Given the description of an element on the screen output the (x, y) to click on. 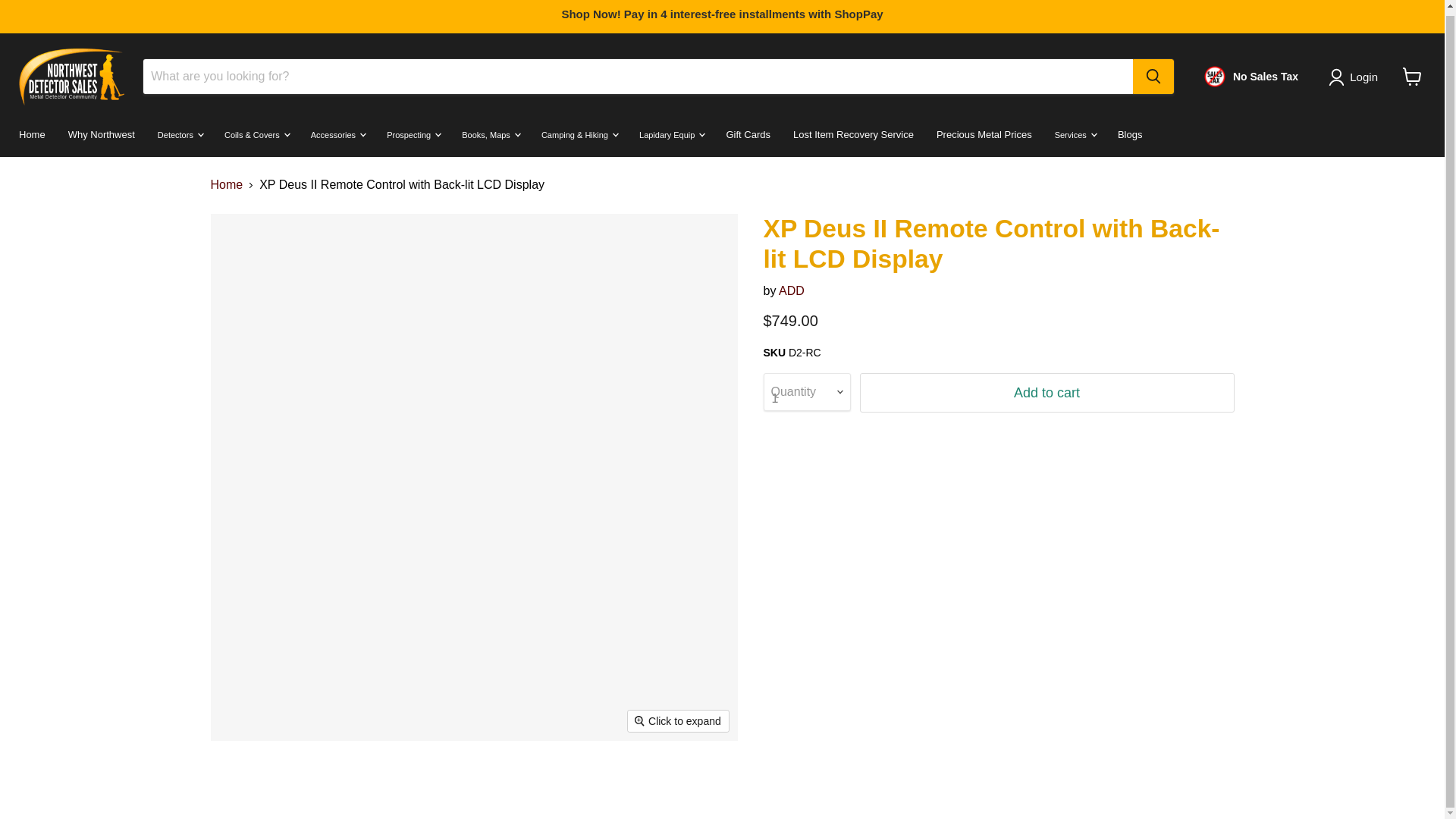
Home (31, 134)
Login (1355, 76)
ADD (791, 289)
Why Northwest (101, 134)
View cart (1411, 76)
